Given the description of an element on the screen output the (x, y) to click on. 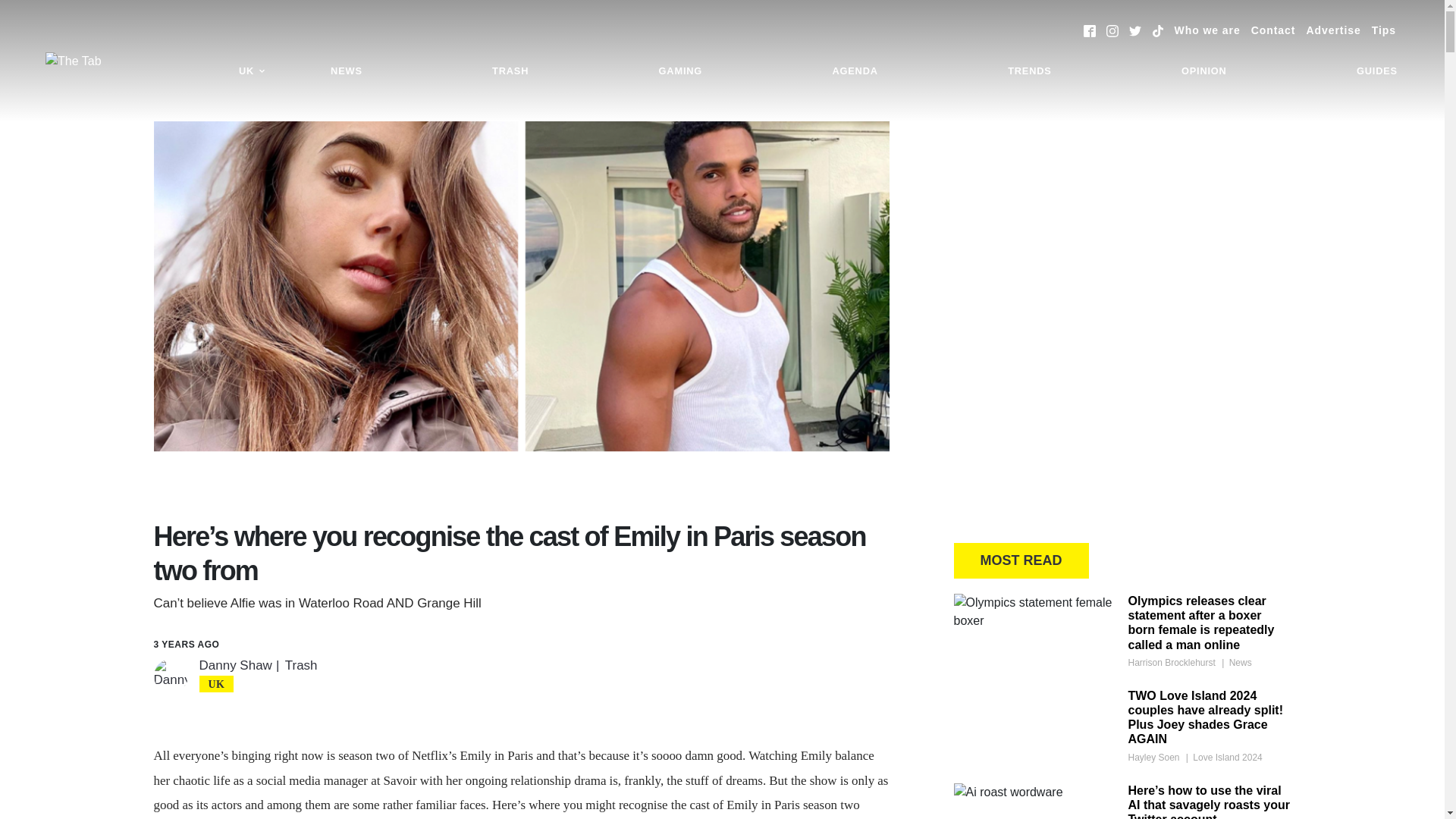
TRENDS (1028, 71)
NEWS (346, 71)
Contact (1272, 29)
Advertise (1332, 29)
Tips (1383, 29)
Who we are (1207, 29)
GAMING (680, 71)
OPINION (1204, 71)
AGENDA (854, 71)
TRASH (510, 71)
GUIDES (1377, 71)
UK (252, 71)
